Given the description of an element on the screen output the (x, y) to click on. 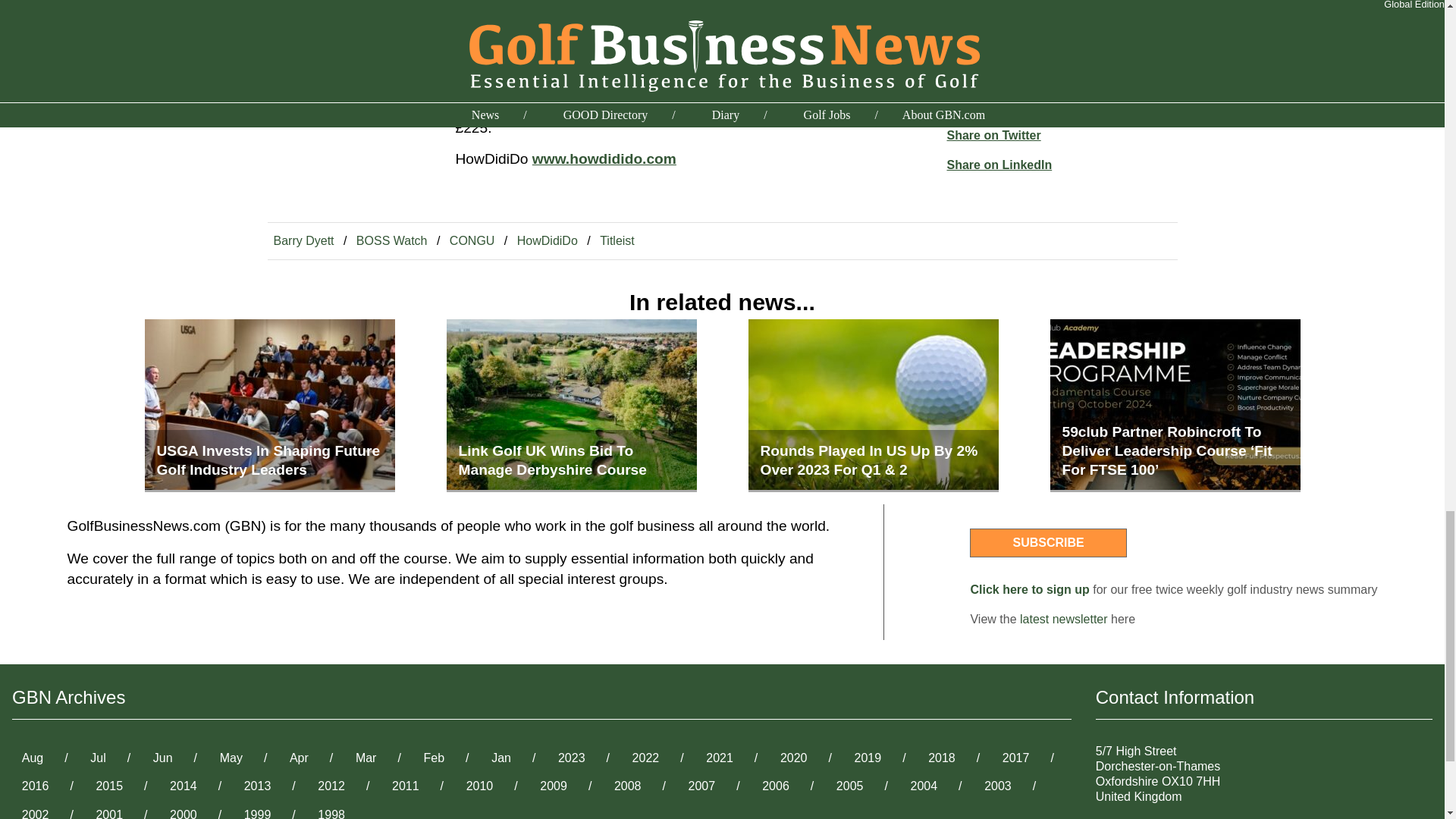
Share on Twitter (993, 134)
CONGU (472, 240)
Link Golf UK Wins Bid To Manage Derbyshire Course (570, 405)
Share on LinkedIn (998, 164)
Titleist (617, 240)
BOSS Watch (391, 240)
HowDidiDo (547, 240)
Barry Dyett (302, 240)
www.howdidido.com (604, 158)
USGA Invests In Shaping Future Golf Industry Leaders (269, 405)
